Given the description of an element on the screen output the (x, y) to click on. 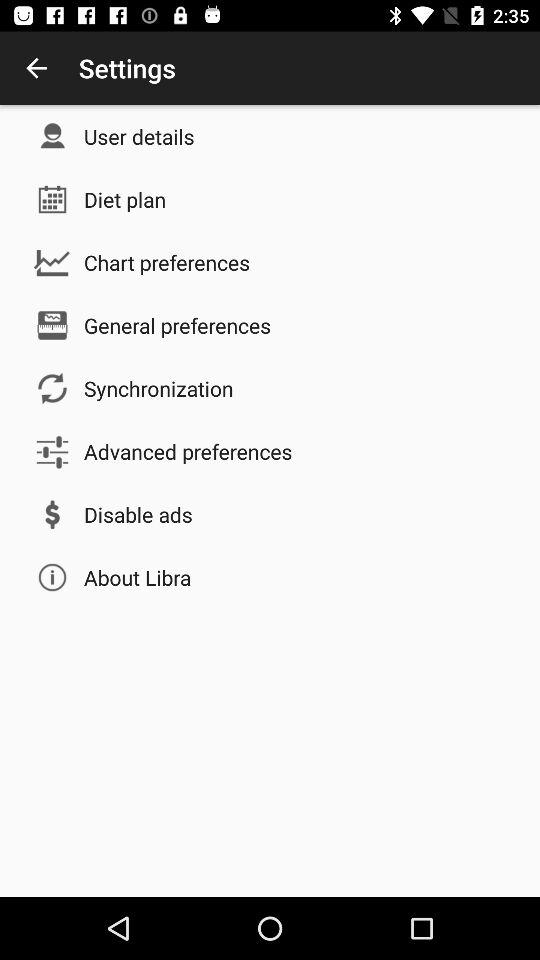
tap the general preferences app (177, 325)
